Given the description of an element on the screen output the (x, y) to click on. 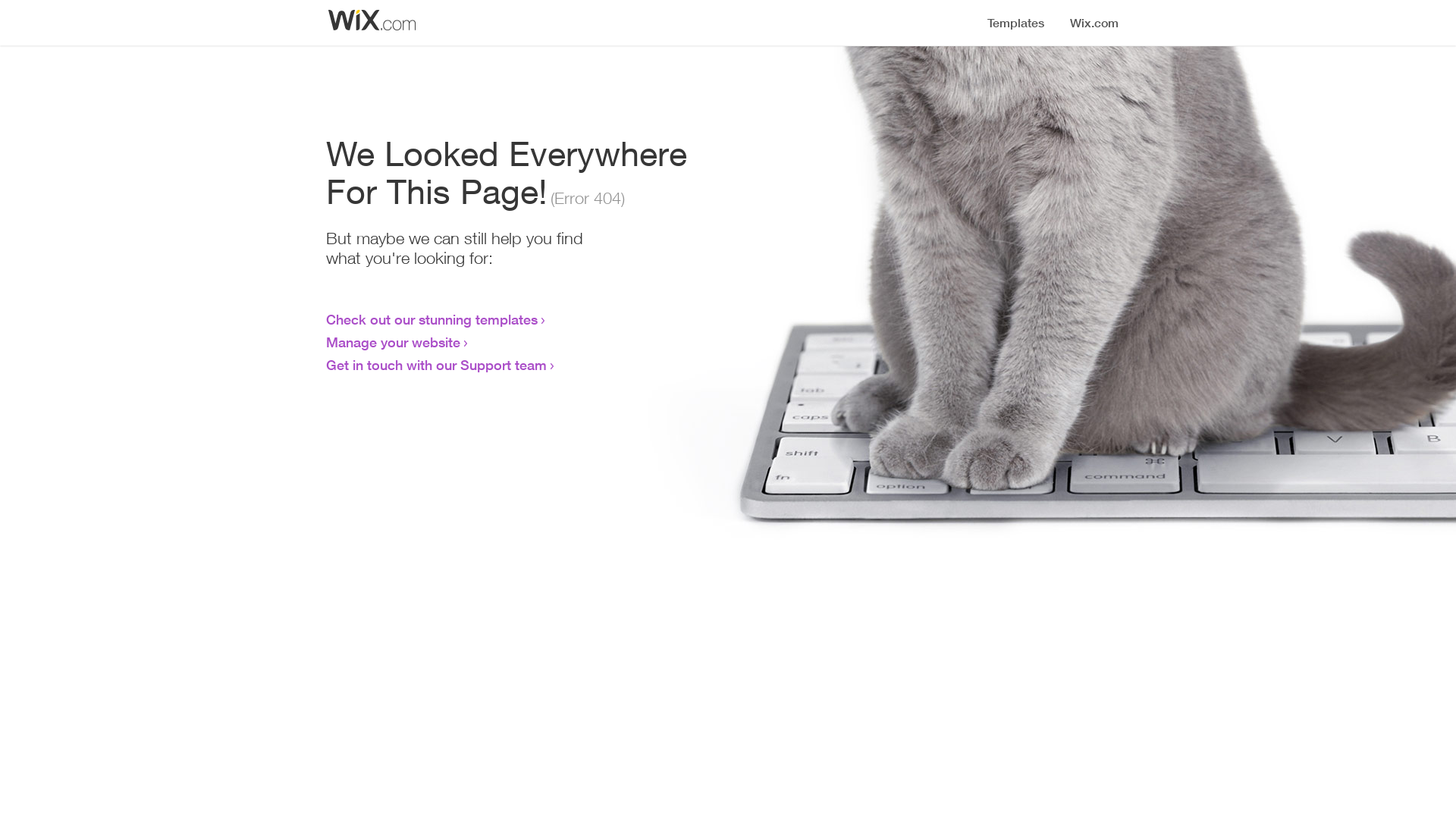
Check out our stunning templates Element type: text (431, 318)
Get in touch with our Support team Element type: text (436, 364)
Manage your website Element type: text (393, 341)
